Given the description of an element on the screen output the (x, y) to click on. 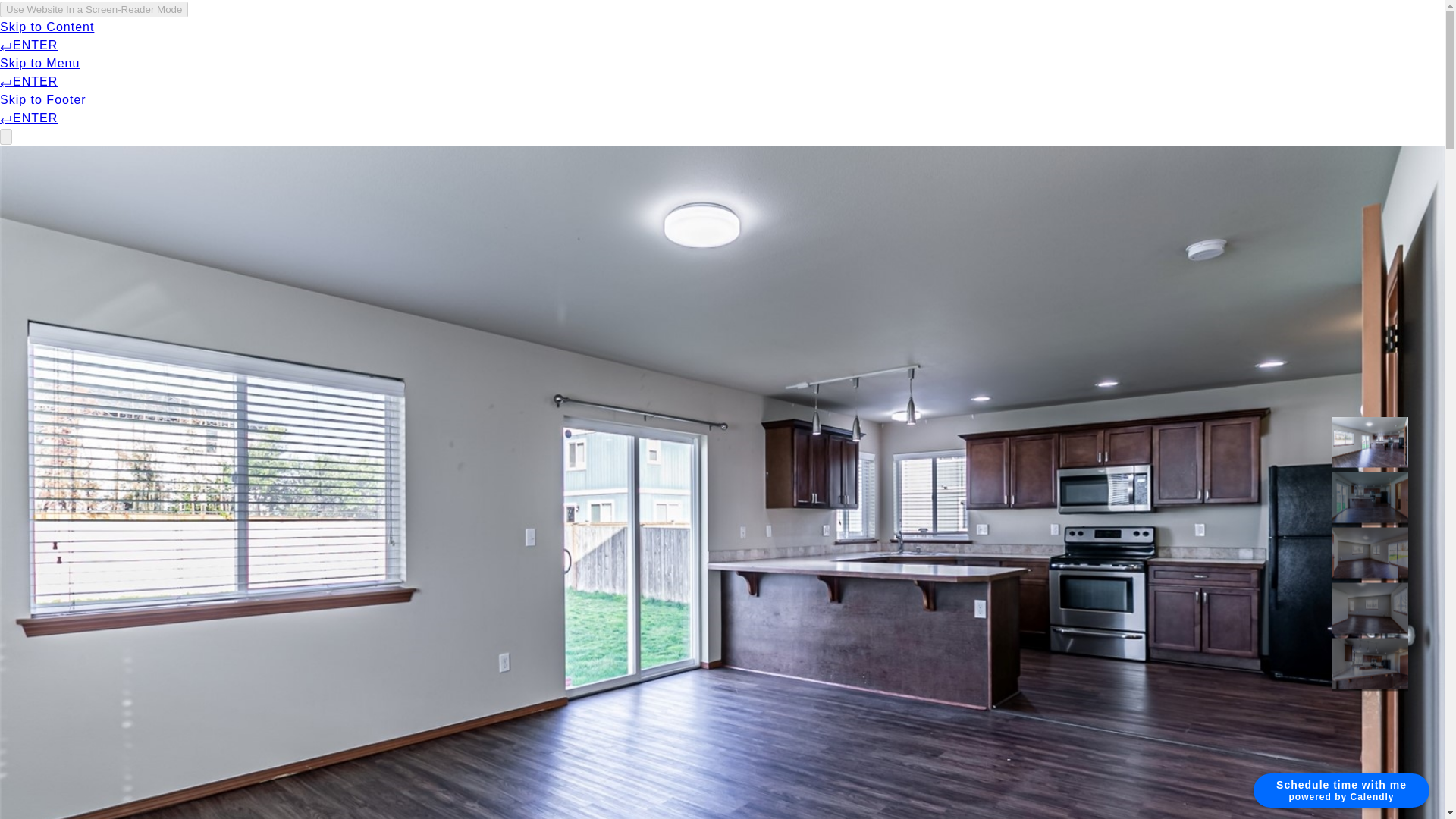
Home Valuation (963, 37)
Menu (190, 38)
Let'S Connect (1095, 37)
Menu (200, 37)
Home Search (417, 37)
Properties (290, 37)
